Given the description of an element on the screen output the (x, y) to click on. 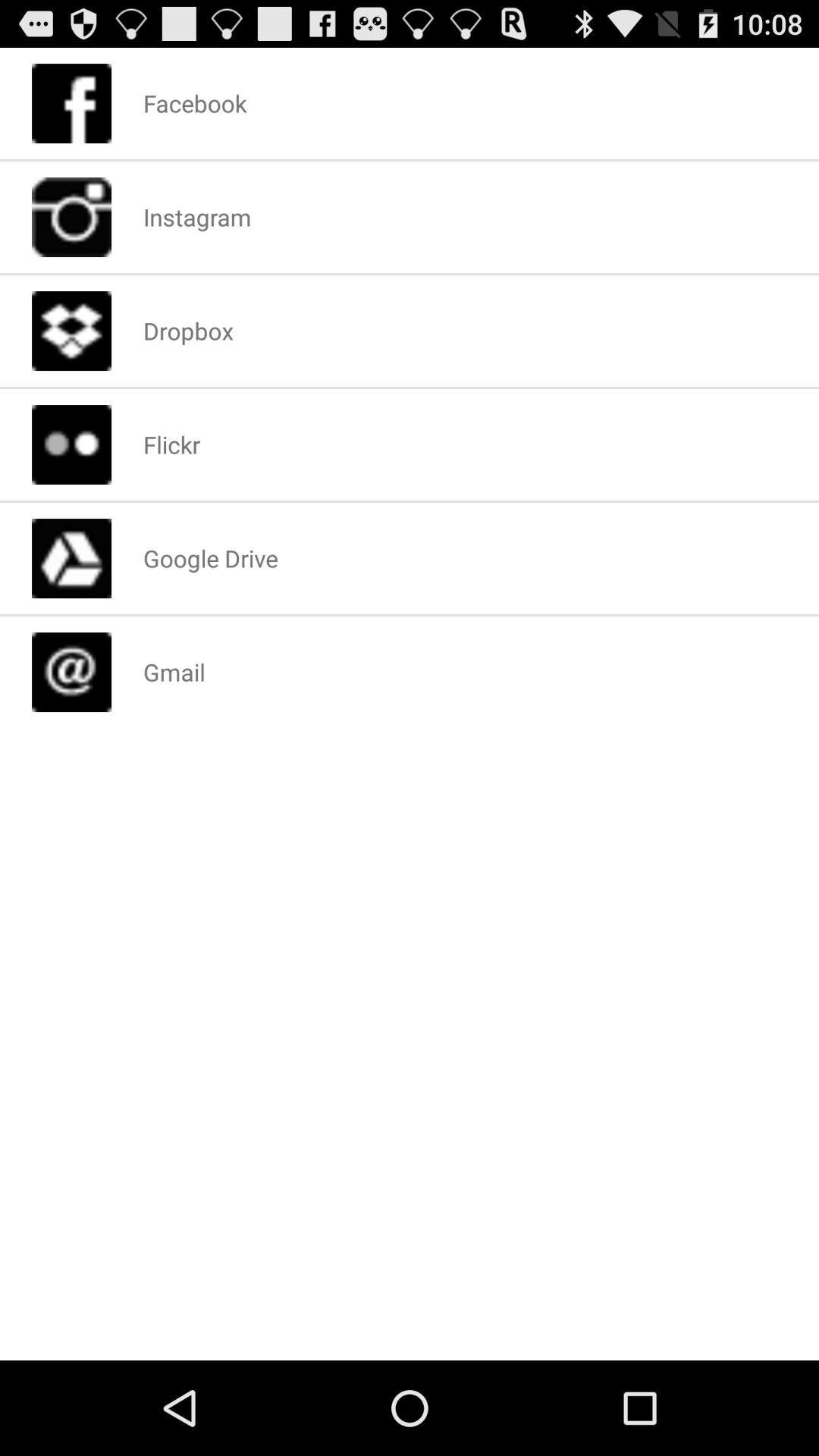
launch the dropbox icon (188, 330)
